Given the description of an element on the screen output the (x, y) to click on. 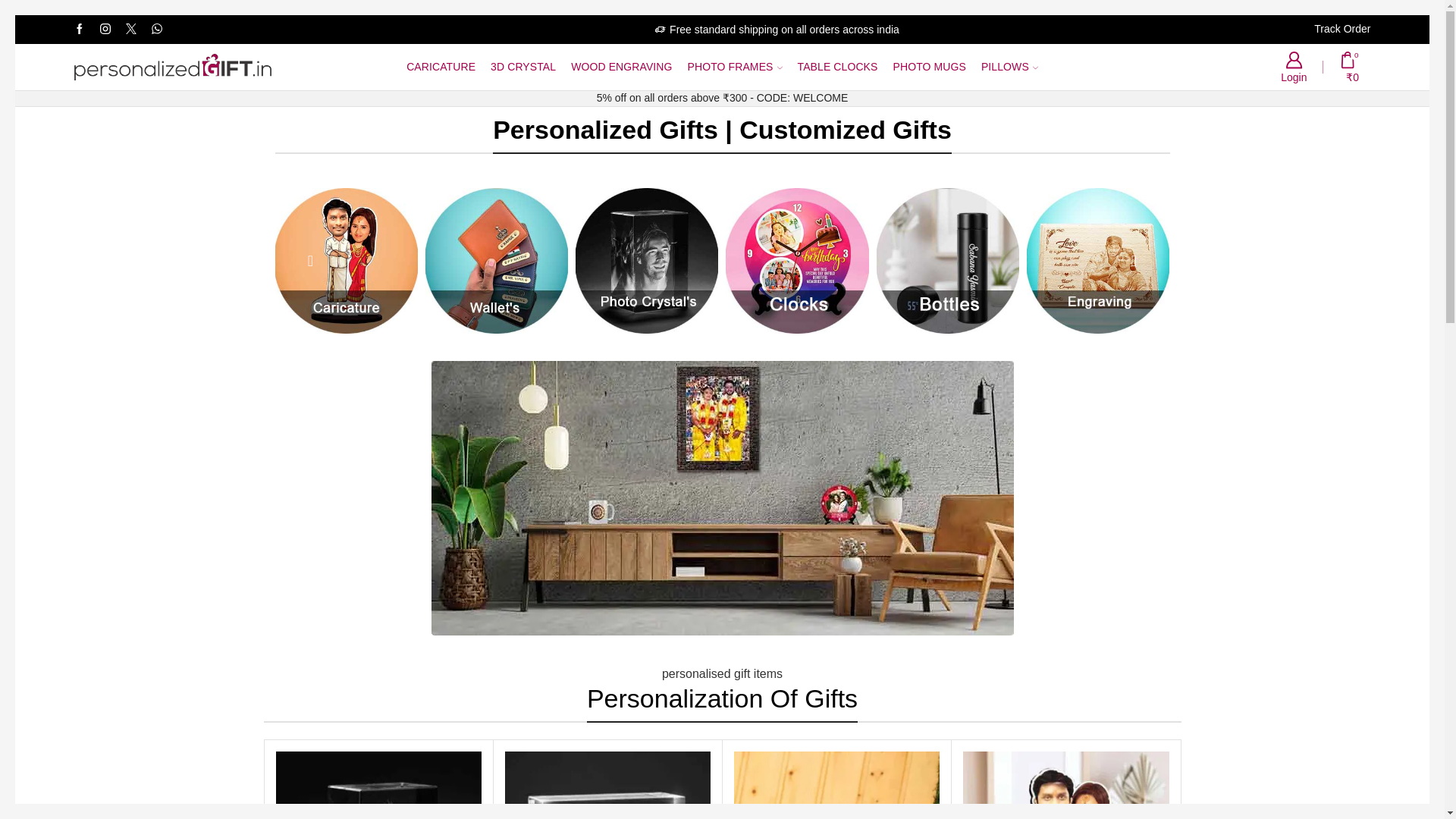
Instagram (105, 29)
PHOTO MUGS (928, 67)
PILLOWS (1009, 67)
Track Order (1342, 28)
3D CRYSTAL (522, 67)
Whatsapp (156, 29)
WOOD ENGRAVING (621, 67)
Facebook (79, 29)
Twitter (130, 29)
Login (1294, 67)
TABLE CLOCKS (837, 67)
PHOTO FRAMES (735, 67)
CARICATURE (441, 67)
